Given the description of an element on the screen output the (x, y) to click on. 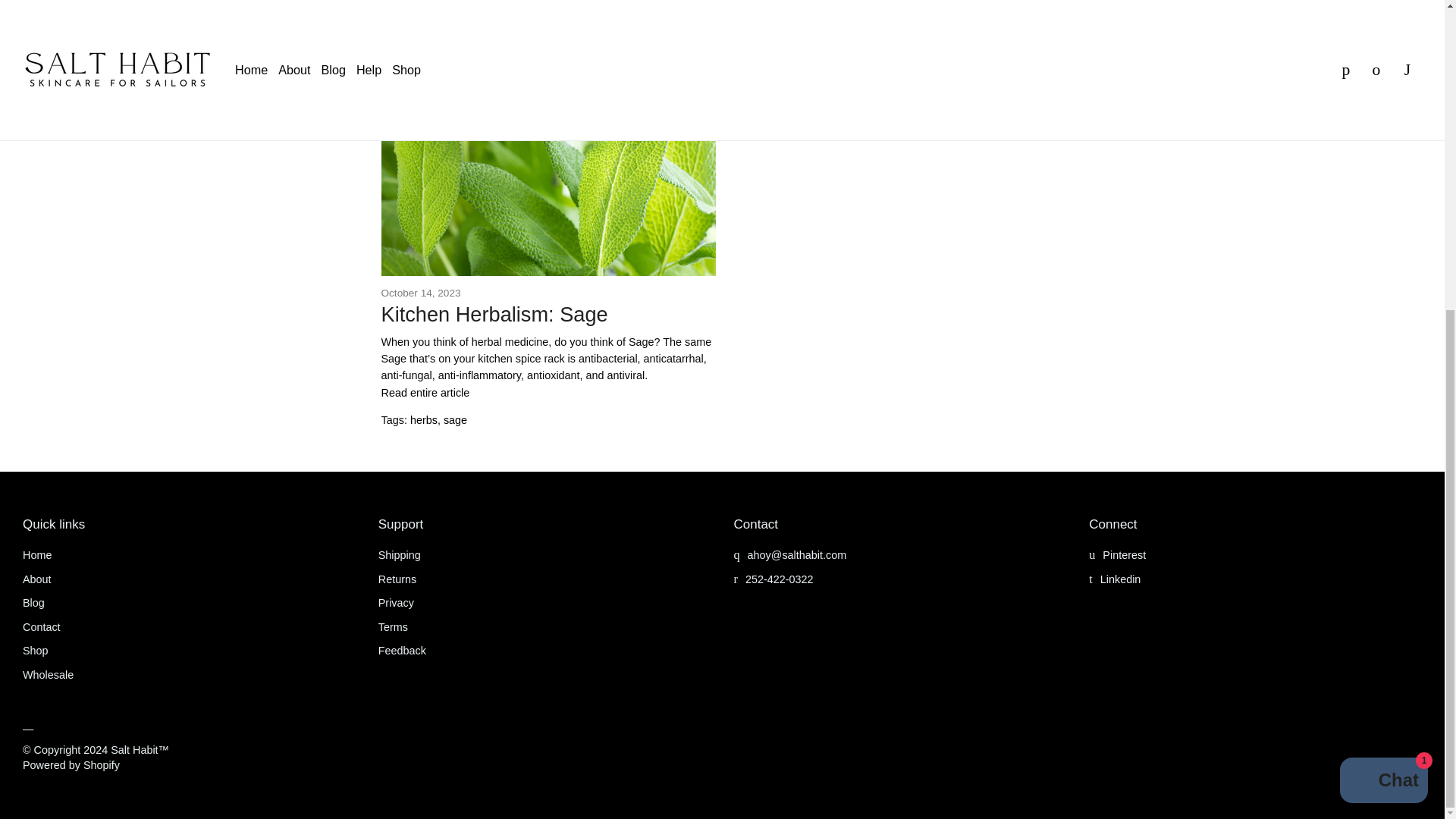
About (36, 579)
Read entire article (424, 392)
Shipping (399, 554)
sage (455, 419)
Home (36, 554)
Returns (397, 579)
Shopify online store chat (1383, 290)
Contact (42, 626)
Salty Dispatch (449, 22)
Kitchen Herbalism: Sage (424, 392)
Wholesale (48, 674)
Shop (35, 650)
herbs (424, 419)
Kitchen Herbalism: Sage (493, 313)
Blog (34, 603)
